Given the description of an element on the screen output the (x, y) to click on. 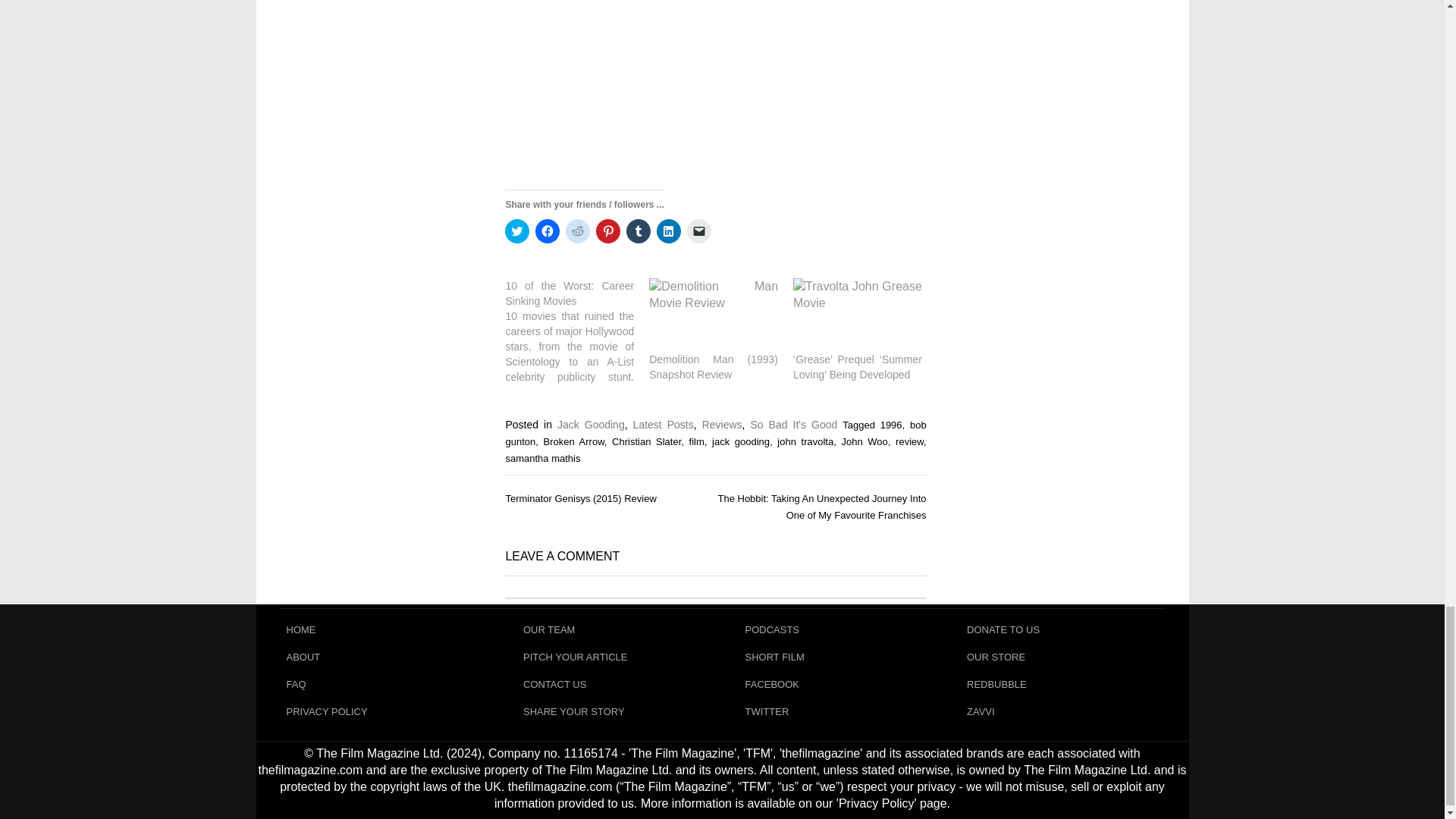
Click to share on Tumblr (638, 231)
Click to share on Facebook (547, 231)
Click to share on Pinterest (607, 231)
Click to share on Twitter (517, 231)
Click to share on Reddit (577, 231)
Click to share on LinkedIn (668, 231)
Click to email a link to a friend (699, 231)
10 of the Worst: Career Sinking Movies (577, 331)
